Given the description of an element on the screen output the (x, y) to click on. 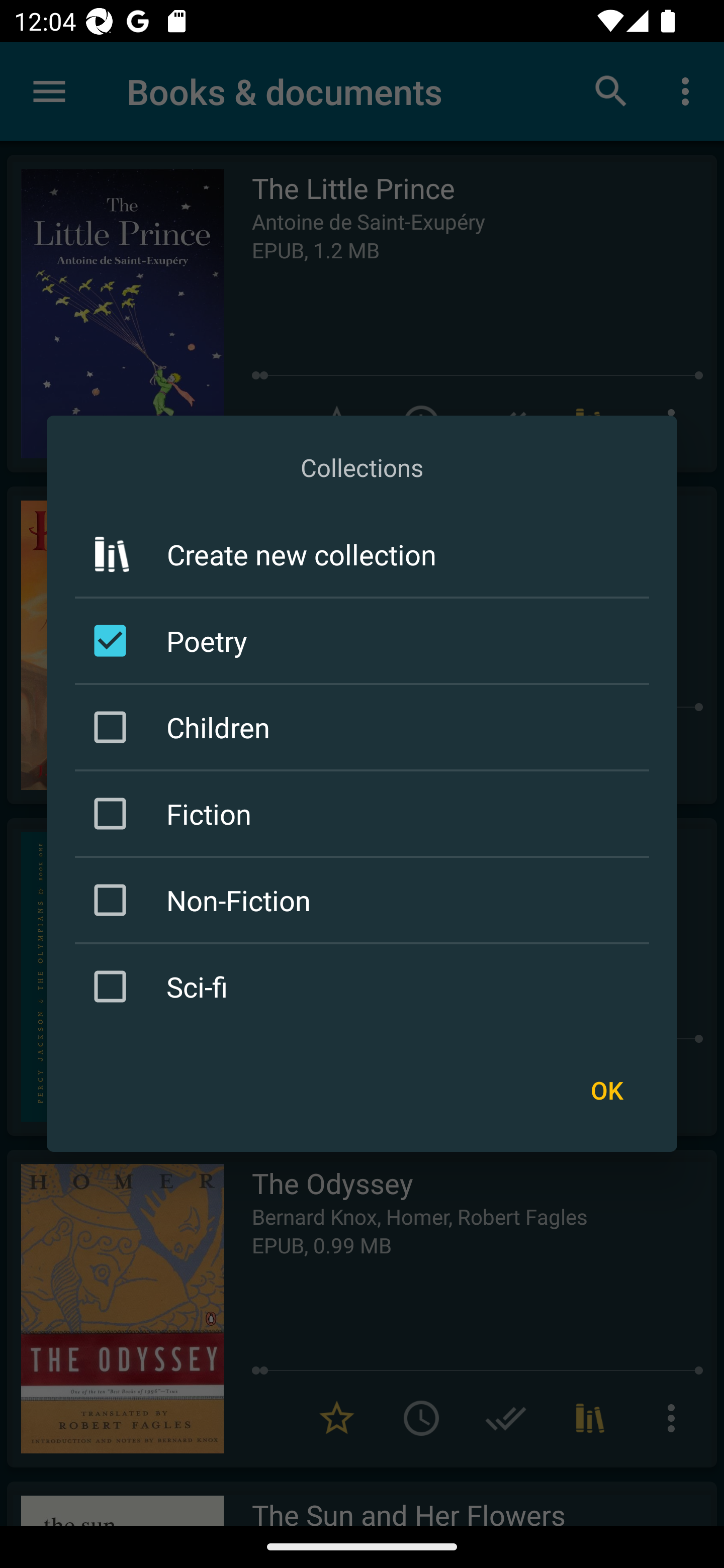
Create new collection (361, 553)
Poetry (365, 640)
Children (365, 727)
Fiction (365, 813)
Non-Fiction (365, 899)
Sci-fi (365, 985)
OK (606, 1090)
